Given the description of an element on the screen output the (x, y) to click on. 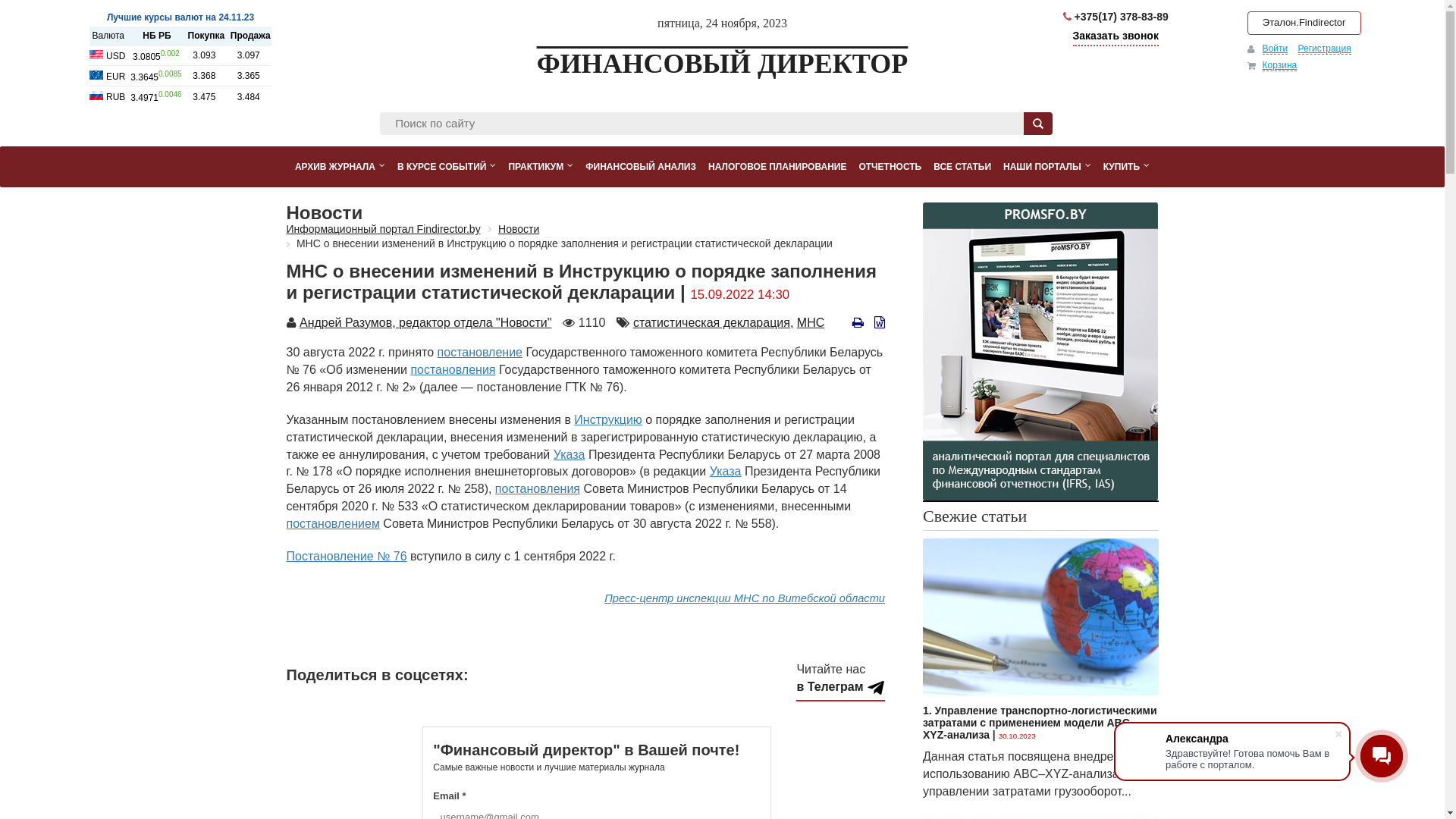
+375(17) 378-83-89 Element type: text (1115, 16)
